Given the description of an element on the screen output the (x, y) to click on. 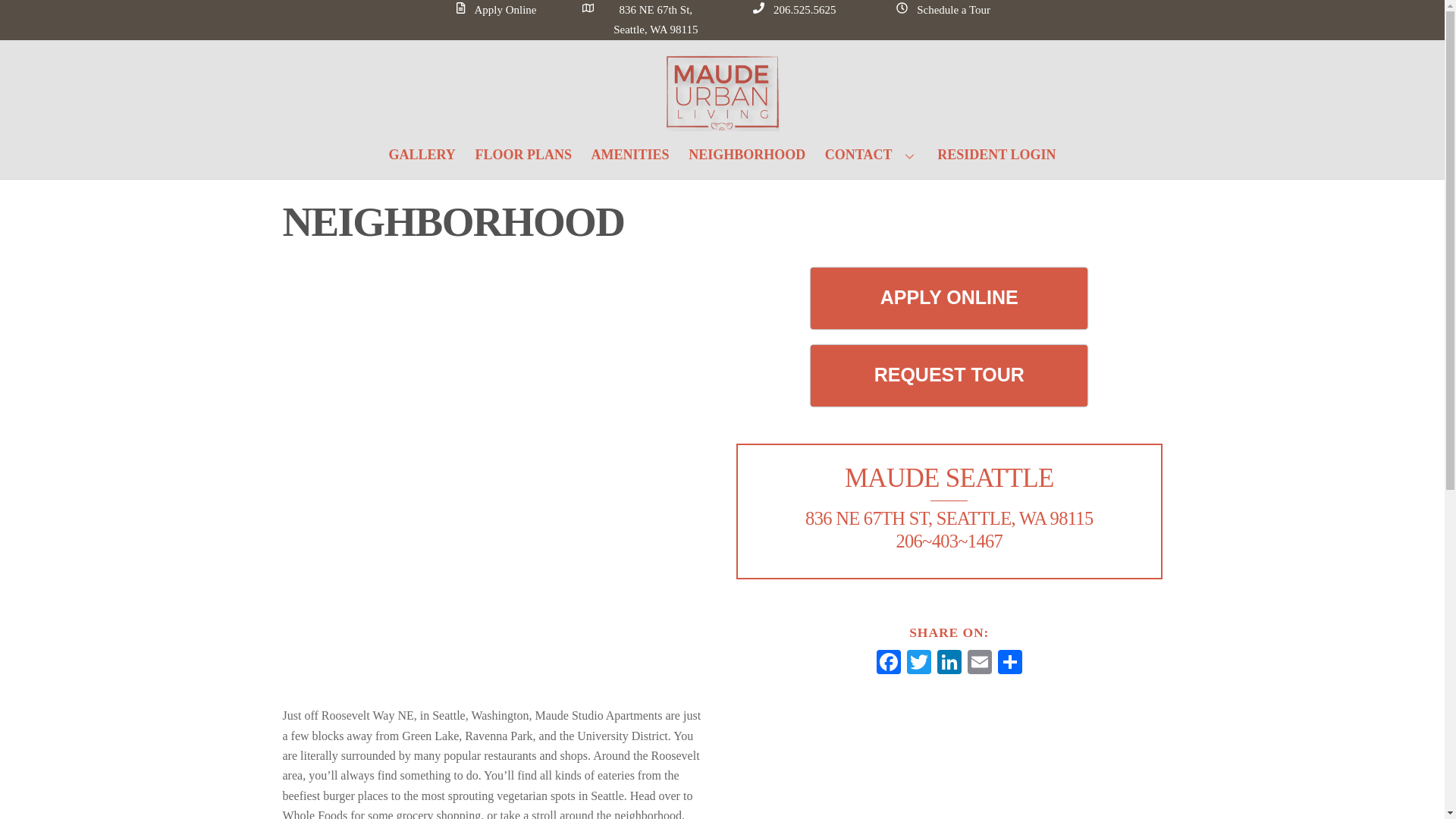
Schedule a Tour (945, 9)
Email (978, 664)
LinkedIn (948, 664)
Twitter (919, 664)
206.525.5625 (797, 9)
Maude Seattle (721, 124)
RESIDENT LOGIN (997, 155)
REQUEST TOUR (948, 375)
Email (978, 664)
Apply Online (498, 9)
Twitter (919, 664)
NEIGHBORHOOD (746, 155)
Facebook (888, 664)
Facebook (888, 664)
